Given the description of an element on the screen output the (x, y) to click on. 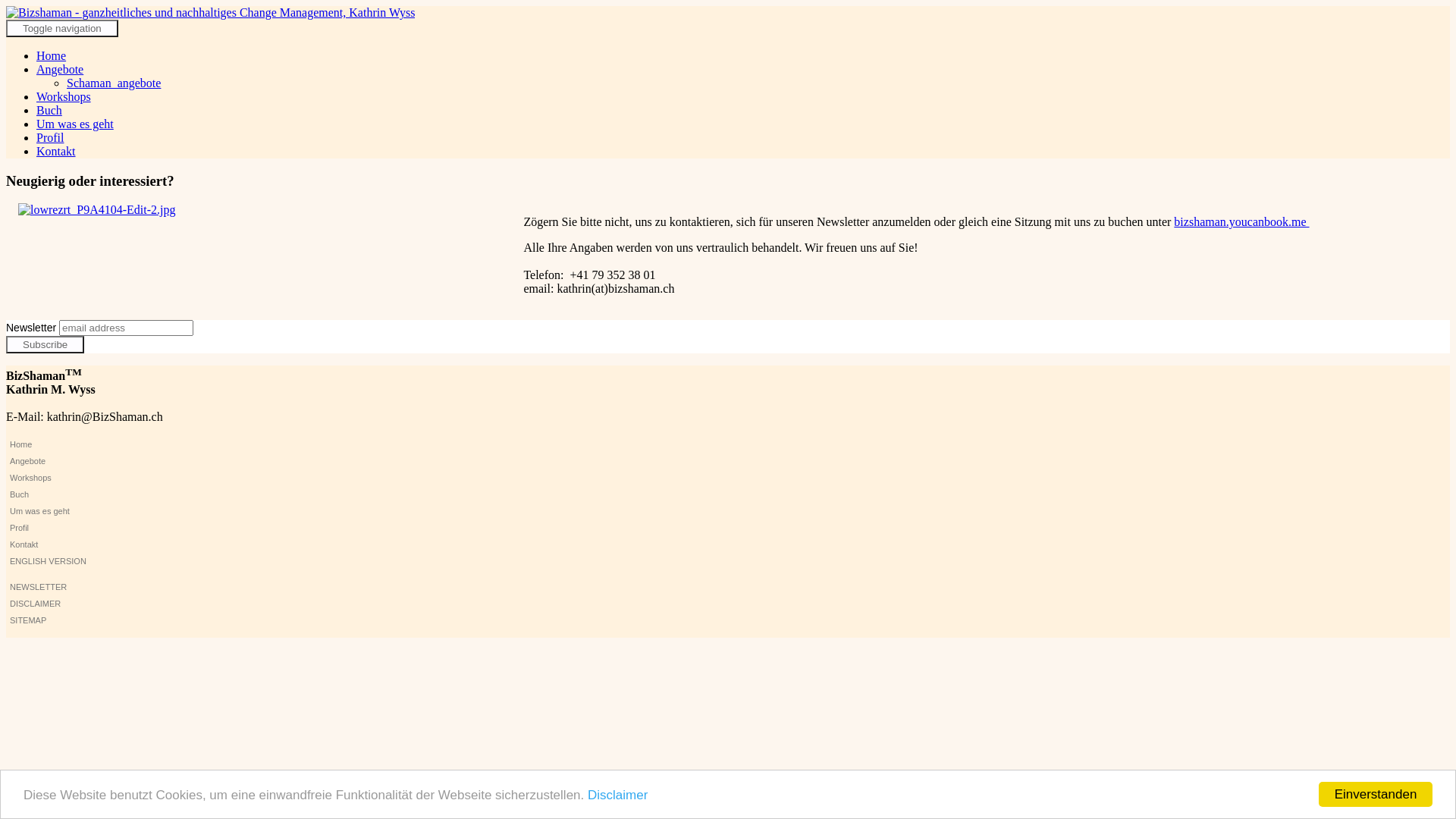
Disclaimer Element type: text (617, 794)
Bizshaman Element type: hover (210, 12)
Subscribe Element type: text (45, 344)
Schaman_angebote Element type: text (113, 82)
Profil Element type: text (62, 527)
Um was es geht Element type: text (74, 123)
Home Element type: text (50, 55)
Einverstanden Element type: text (1375, 793)
DISCLAIMER Element type: text (62, 603)
Workshops Element type: text (62, 477)
Home Element type: text (62, 444)
Angebote Element type: text (59, 68)
Profil Element type: text (49, 137)
Buch Element type: text (62, 494)
Workshops Element type: text (63, 96)
Kontakt Element type: text (55, 150)
Angebote Element type: text (62, 460)
NEWSLETTER Element type: text (62, 586)
Um was es geht Element type: text (62, 510)
bizshaman.youcanbook.me  Element type: text (1240, 221)
Toggle navigation Element type: text (62, 28)
Kontakt Element type: text (62, 544)
SITEMAP Element type: text (62, 619)
Buch Element type: text (49, 109)
ENGLISH VERSION Element type: text (62, 560)
